Given the description of an element on the screen output the (x, y) to click on. 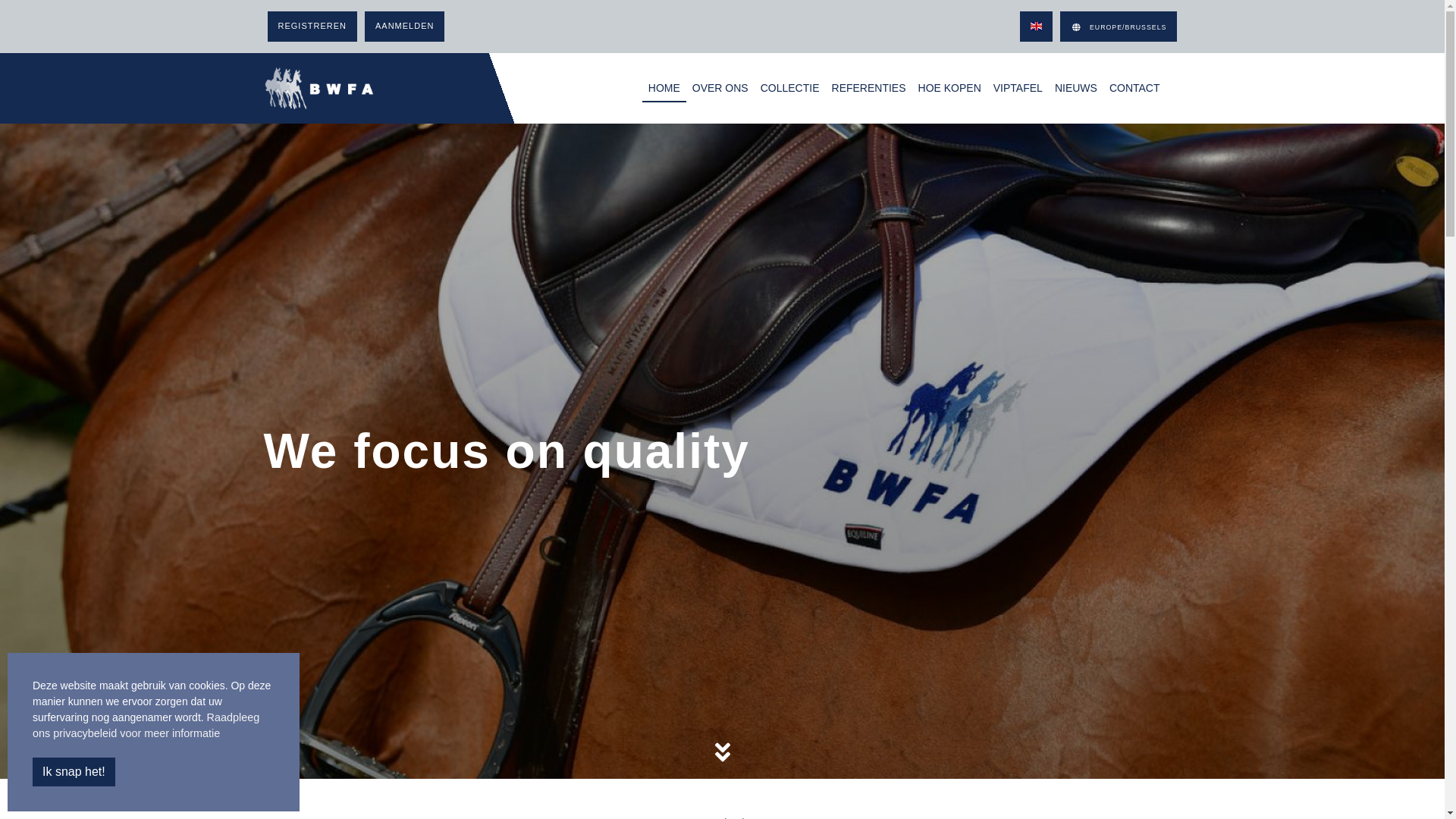
AANMELDEN Element type: text (404, 26)
REGISTREREN Element type: text (311, 26)
CONTACT Element type: text (1134, 88)
REFERENTIES Element type: text (868, 88)
Ik snap het! Element type: text (73, 771)
EUROPE/BRUSSELS Element type: text (1118, 26)
COLLECTIE Element type: text (789, 88)
VIPTAFEL Element type: text (1017, 88)
HOE KOPEN Element type: text (949, 88)
OVER ONS Element type: text (720, 88)
Raadpleeg ons privacybeleid voor meer informatie Element type: text (145, 725)
NIEUWS Element type: text (1075, 88)
HOME Element type: text (664, 88)
